Given the description of an element on the screen output the (x, y) to click on. 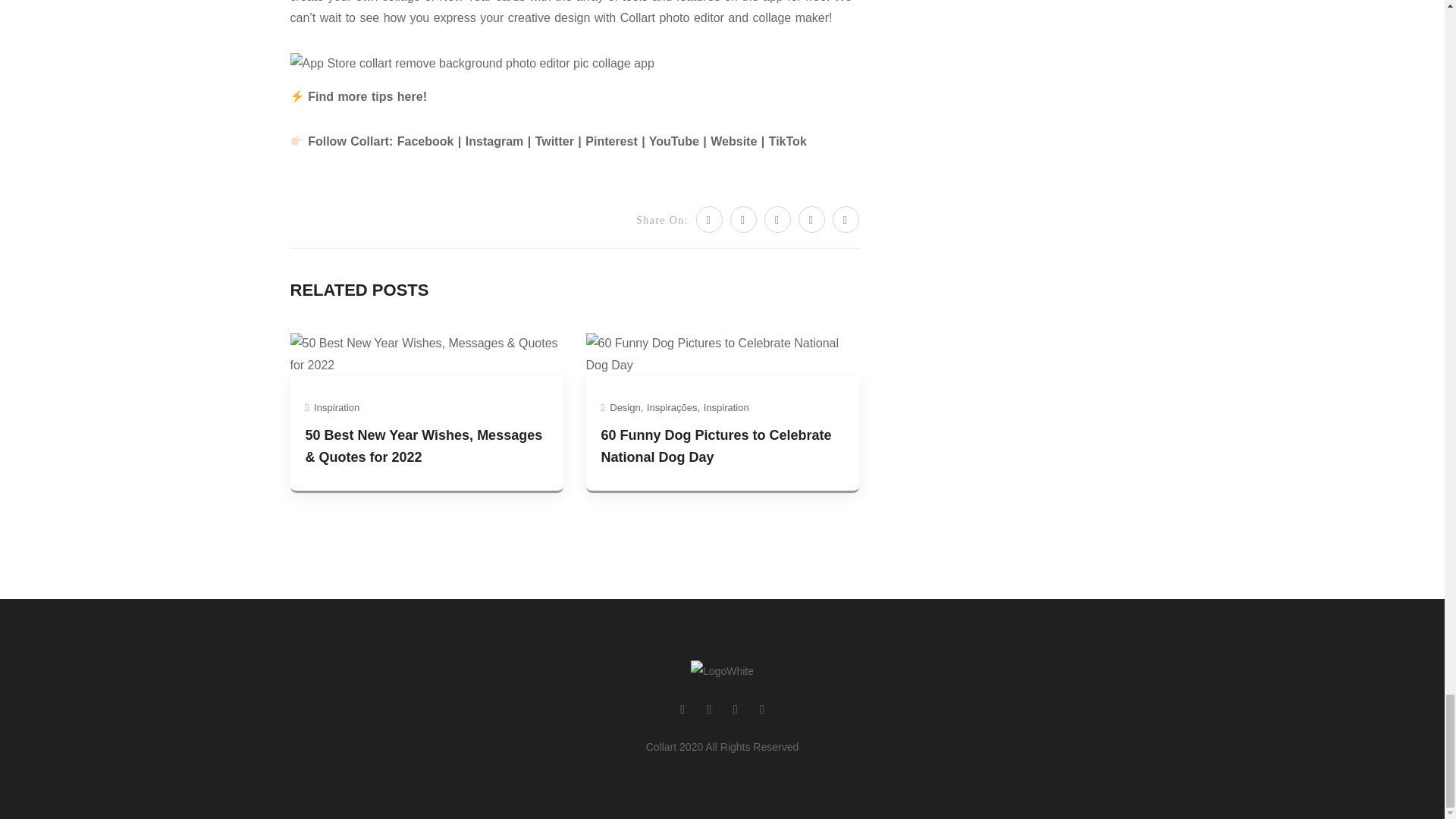
Tweet this (708, 219)
Share on Facebook (743, 219)
60 Funny Dog Pictures to Celebrate National Dog Day (722, 353)
Pin This (777, 219)
